Given the description of an element on the screen output the (x, y) to click on. 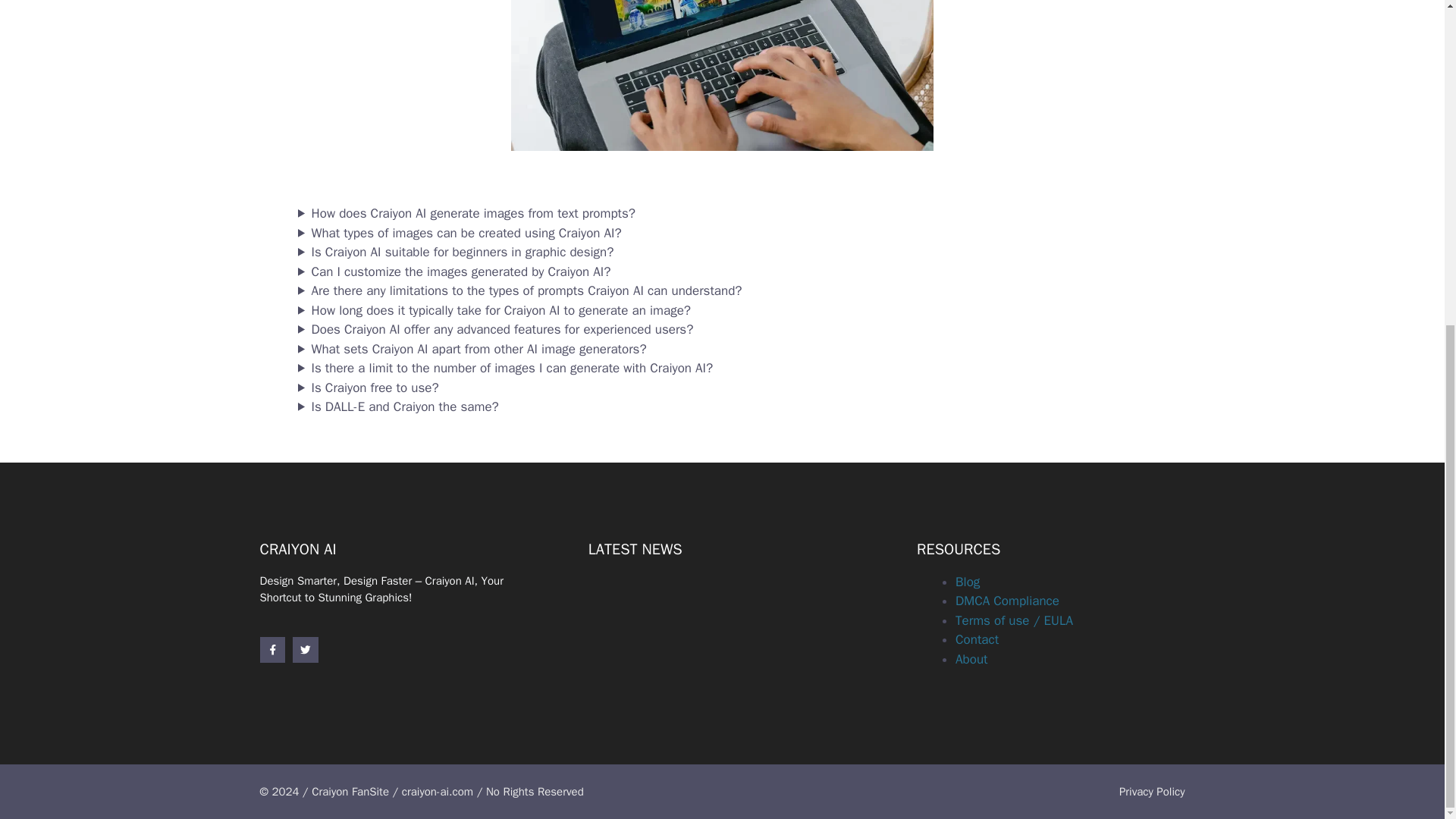
Blog (967, 581)
Contact (976, 639)
DMCA Compliance (1007, 600)
About (971, 659)
Privacy Policy (1152, 791)
